Given the description of an element on the screen output the (x, y) to click on. 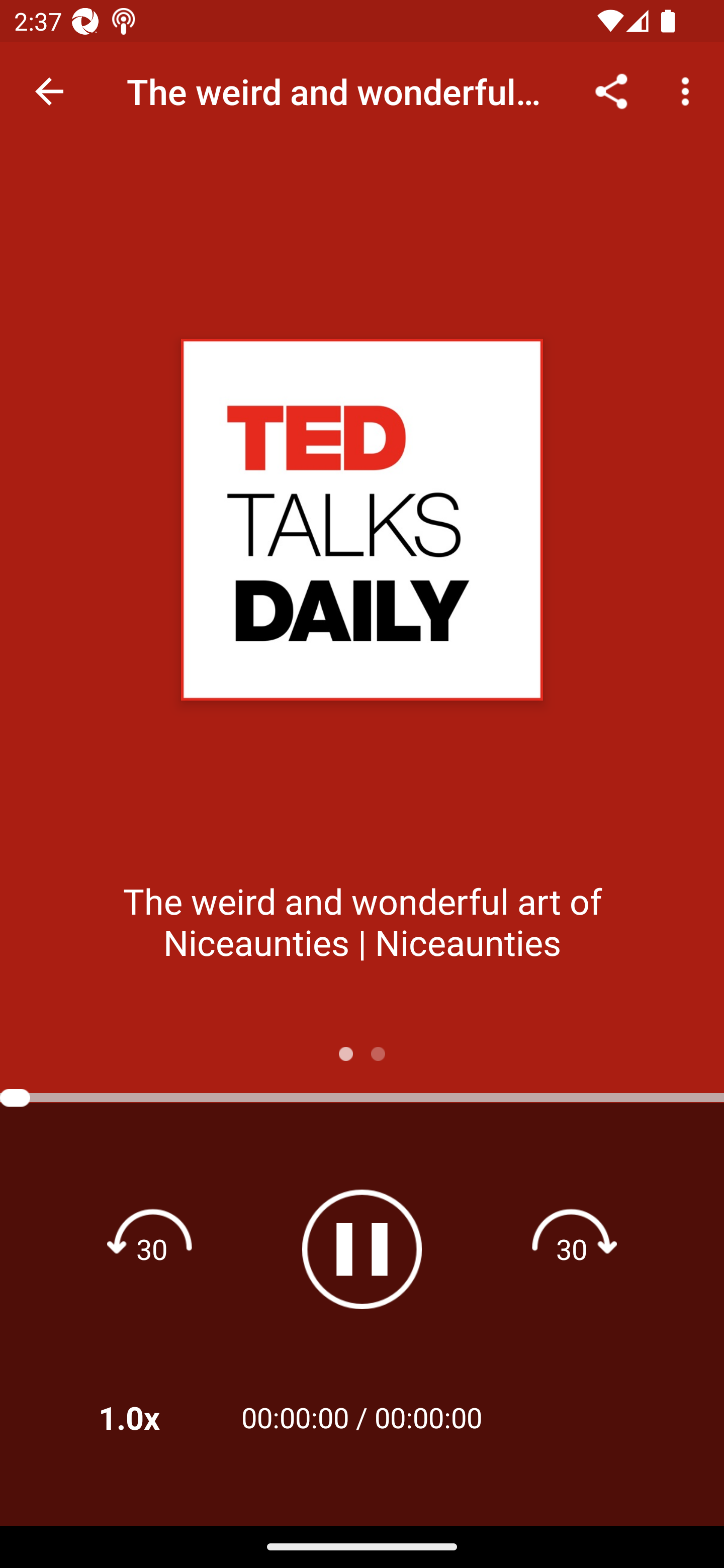
Navigate up (49, 91)
Share... (611, 90)
More options (688, 90)
Pause (361, 1249)
Rewind (151, 1248)
Fast forward (571, 1248)
1.0x Playback Speeds (154, 1417)
00:00:00 (428, 1417)
